Given the description of an element on the screen output the (x, y) to click on. 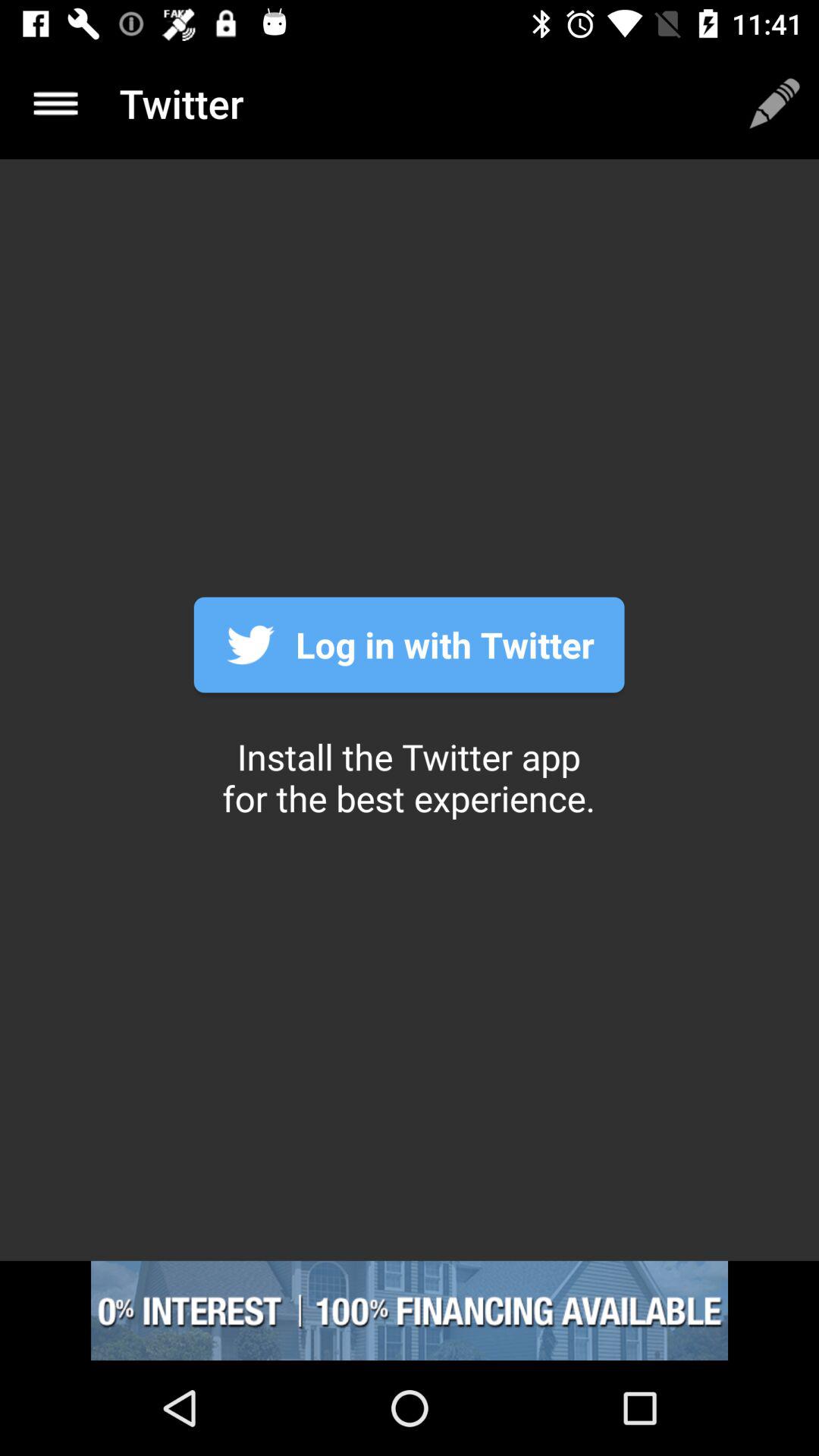
open options (55, 103)
